Given the description of an element on the screen output the (x, y) to click on. 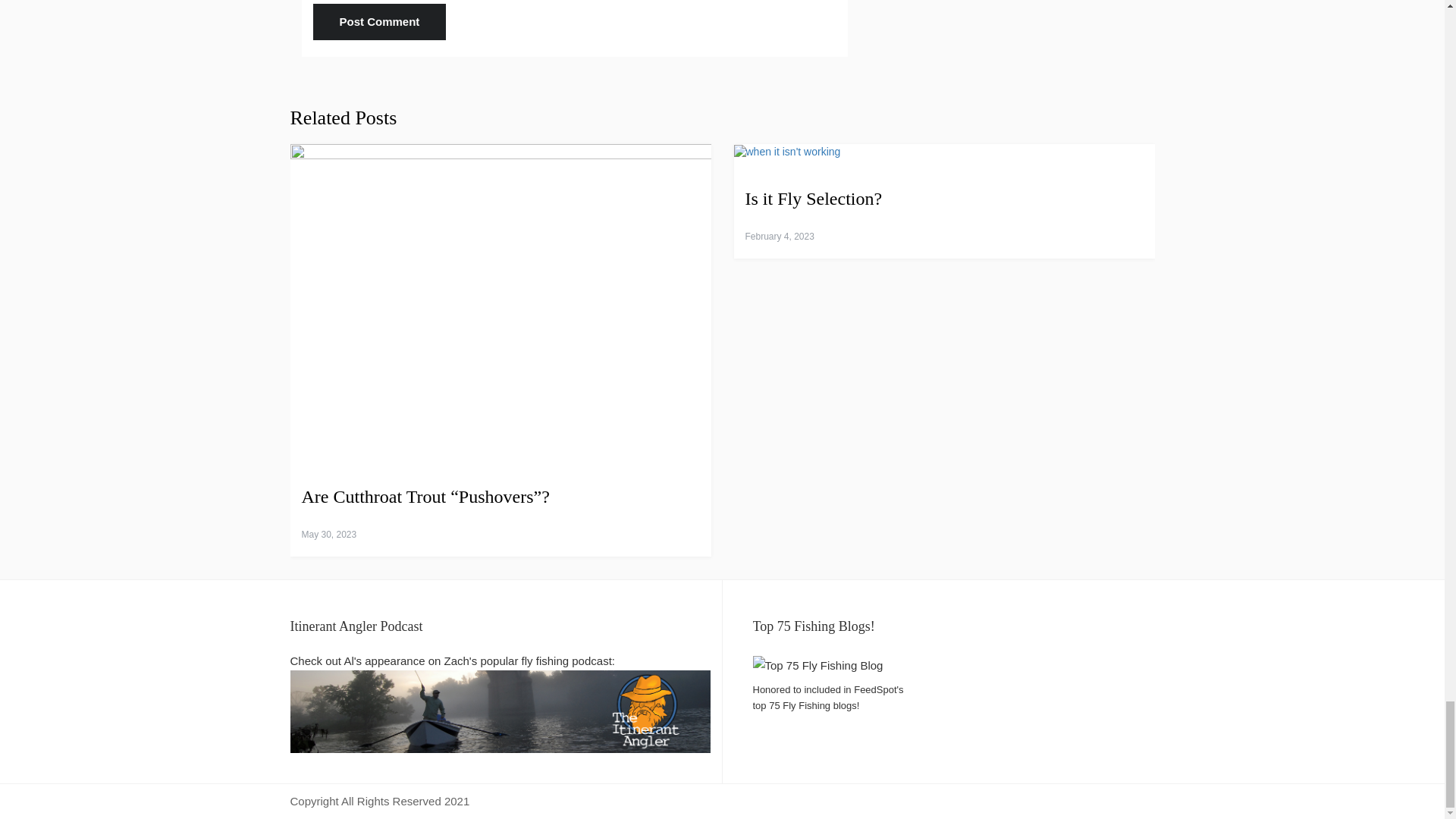
Post Comment (379, 22)
